Given the description of an element on the screen output the (x, y) to click on. 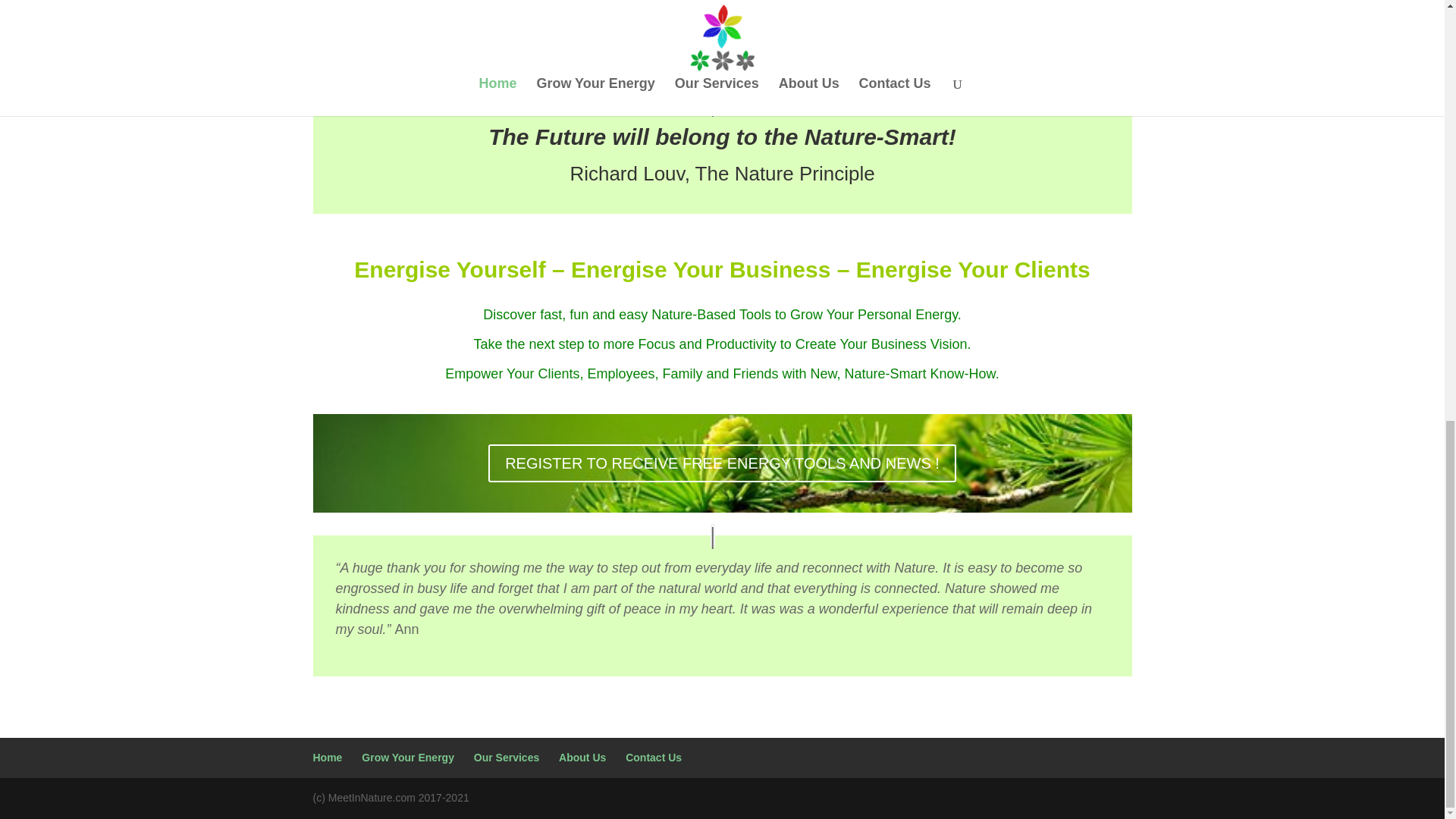
Grow Your Energy (407, 757)
Contact Us (653, 757)
Our Services (506, 757)
Home (327, 757)
REGISTER TO RECEIVE FREE ENERGY TOOLS AND NEWS ! (721, 463)
About Us (582, 757)
